Given the description of an element on the screen output the (x, y) to click on. 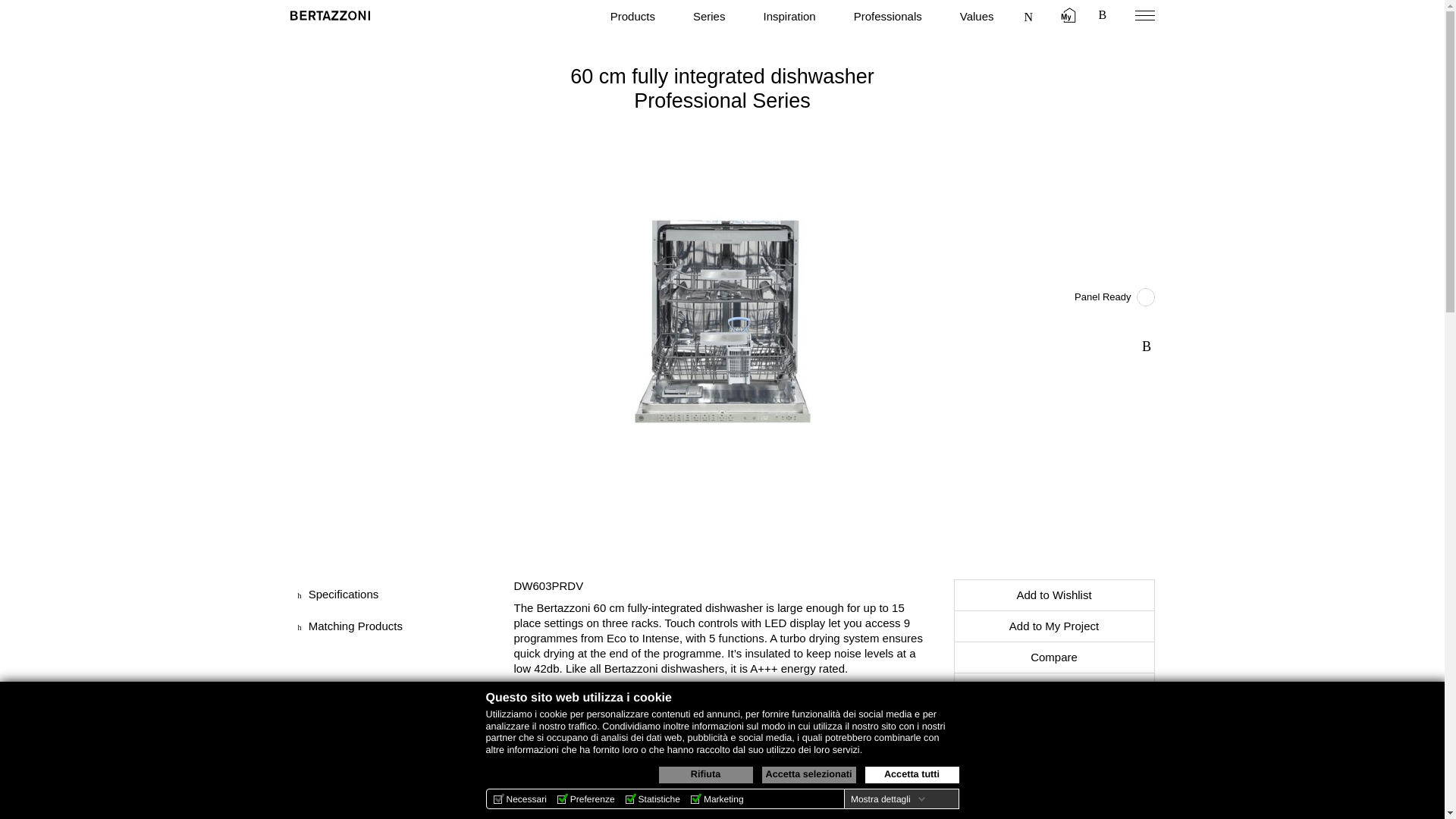
Accetta selezionati (808, 774)
Mostra dettagli (887, 799)
Accetta tutti (911, 774)
Ranges, Ovens and Cooktops - Bertazzoni (329, 15)
Rifiuta (705, 774)
